Given the description of an element on the screen output the (x, y) to click on. 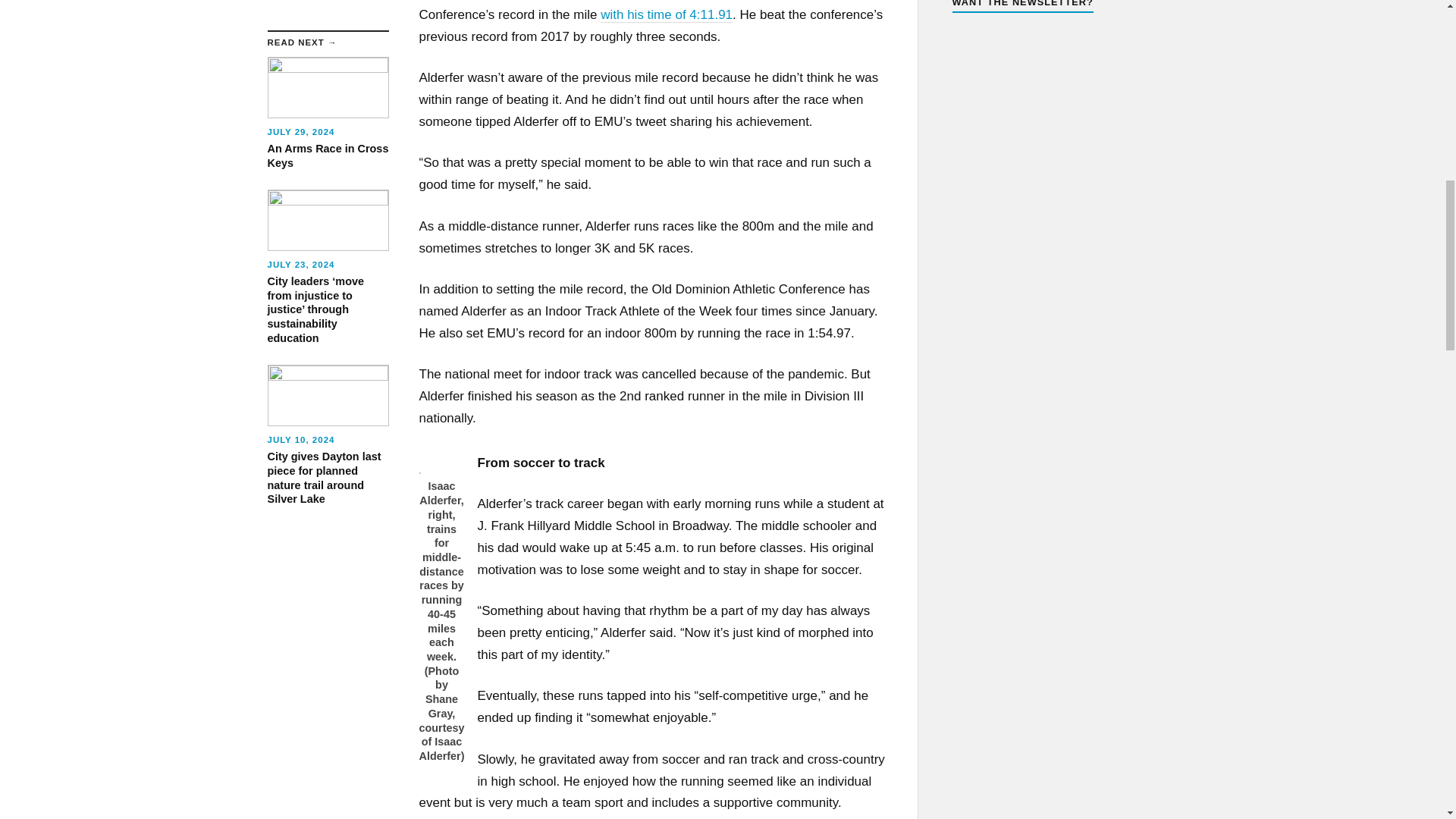
with his time of 4:11.91 (665, 14)
